Given the description of an element on the screen output the (x, y) to click on. 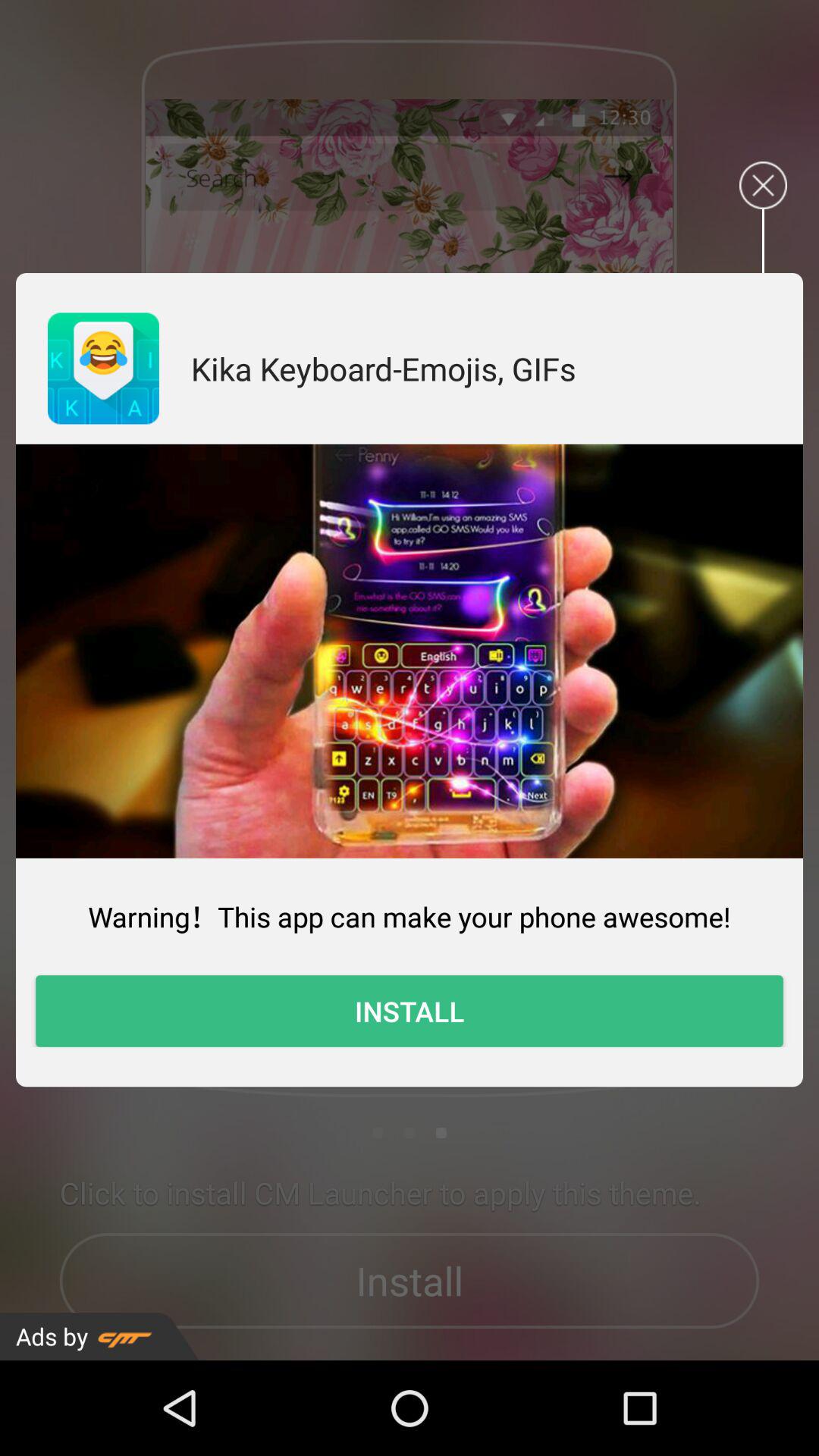
select icon below warning this app icon (409, 1011)
